Given the description of an element on the screen output the (x, y) to click on. 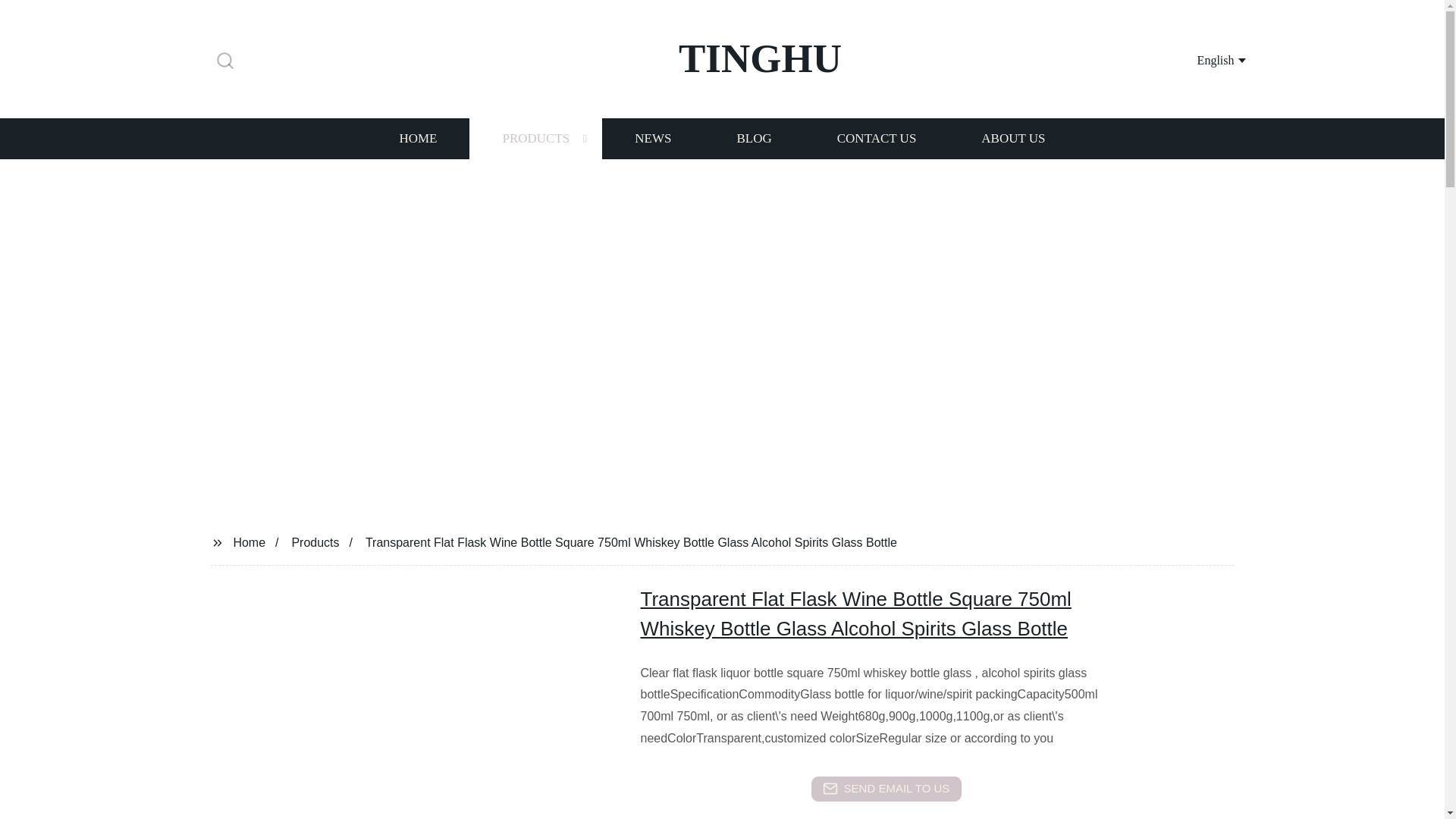
English (1203, 59)
CONTACT US (877, 137)
PRODUCTS (535, 137)
English (1203, 59)
HOME (417, 137)
Home (248, 541)
SEND EMAIL TO US (885, 788)
NEWS (652, 137)
Products (315, 541)
BLOG (753, 137)
